Given the description of an element on the screen output the (x, y) to click on. 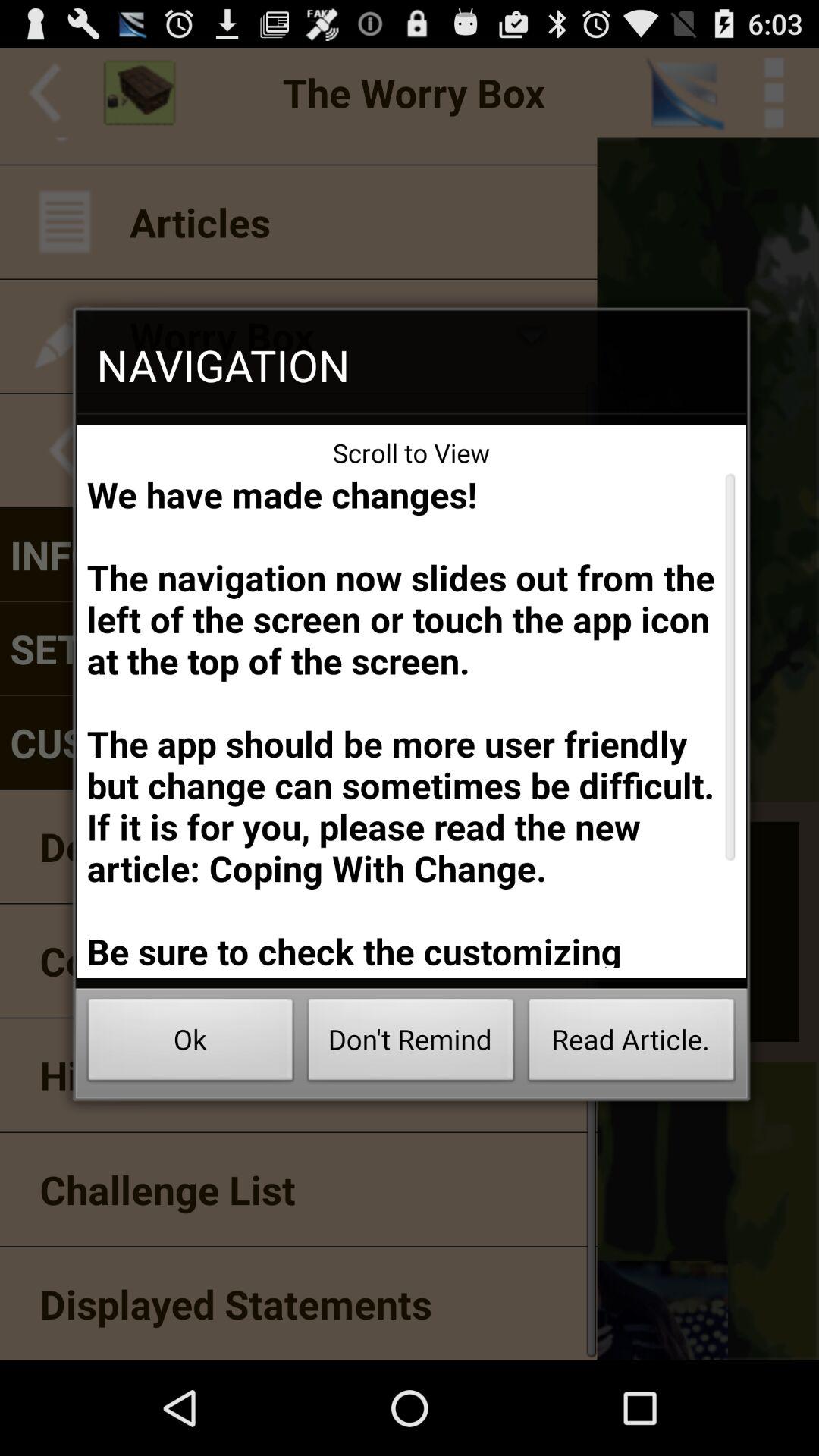
tap item below the we have made item (190, 1044)
